Given the description of an element on the screen output the (x, y) to click on. 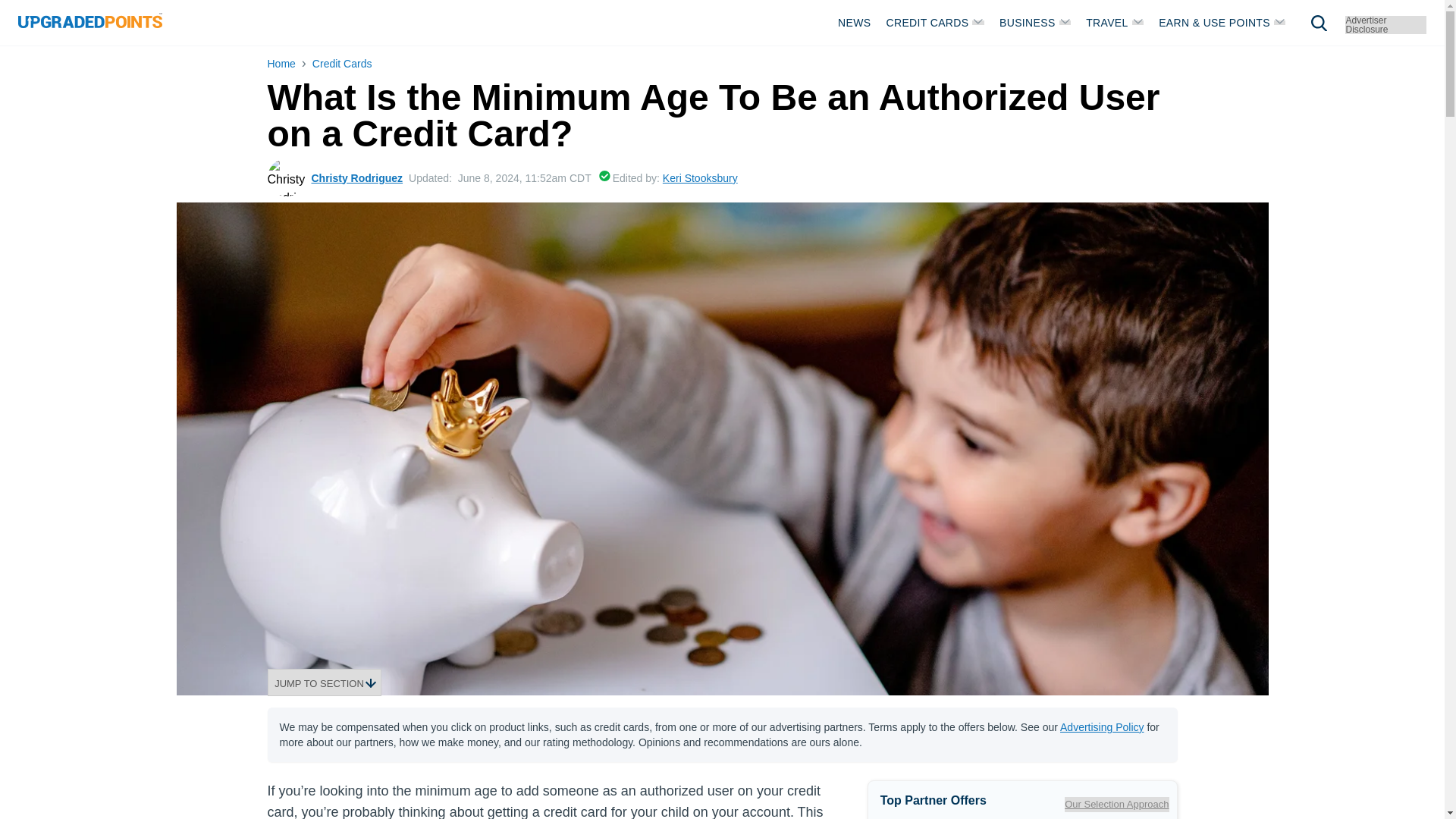
NEWS (853, 22)
CREDIT CARDS (935, 22)
